Given the description of an element on the screen output the (x, y) to click on. 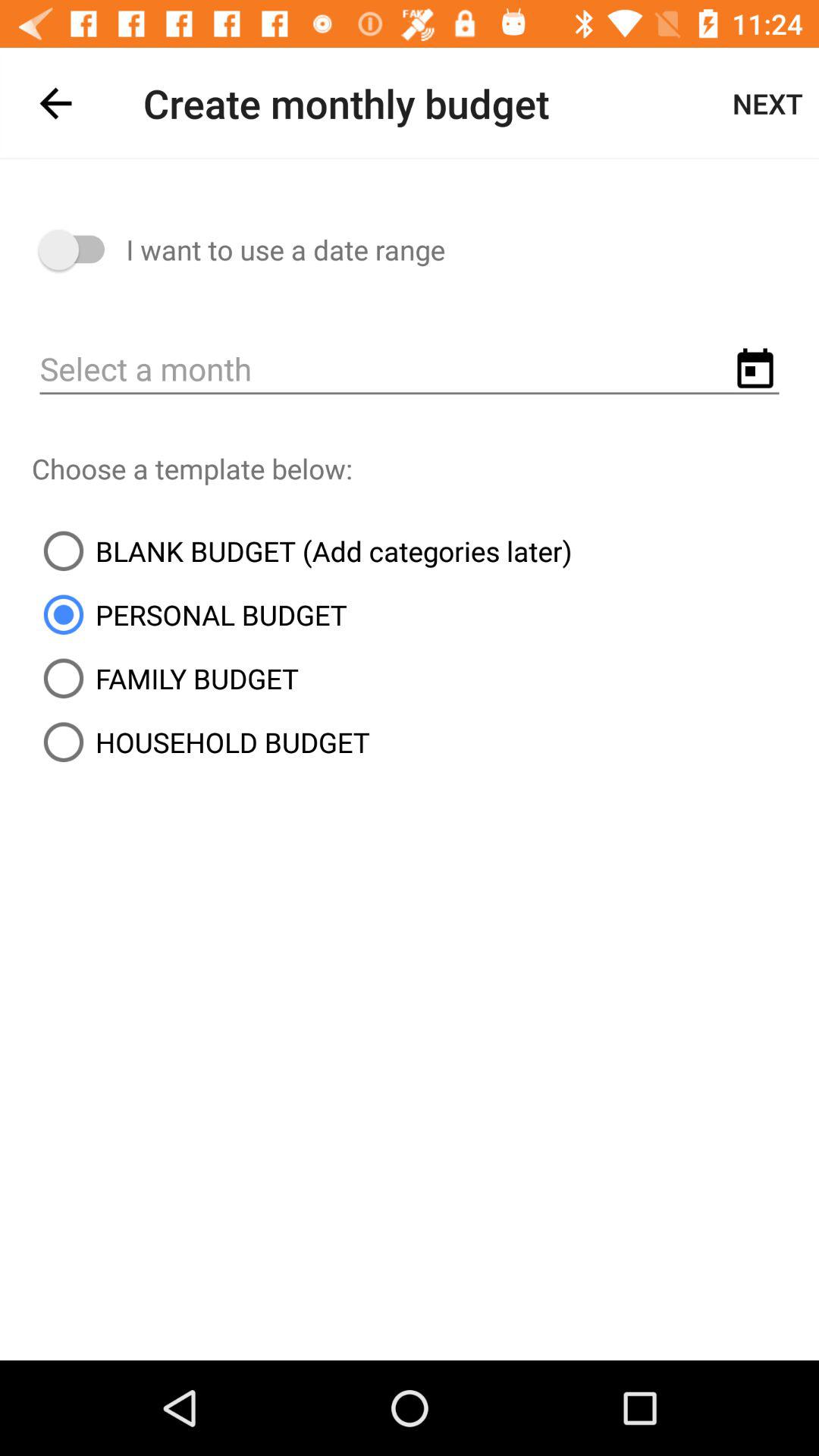
select item at the center (301, 550)
